Given the description of an element on the screen output the (x, y) to click on. 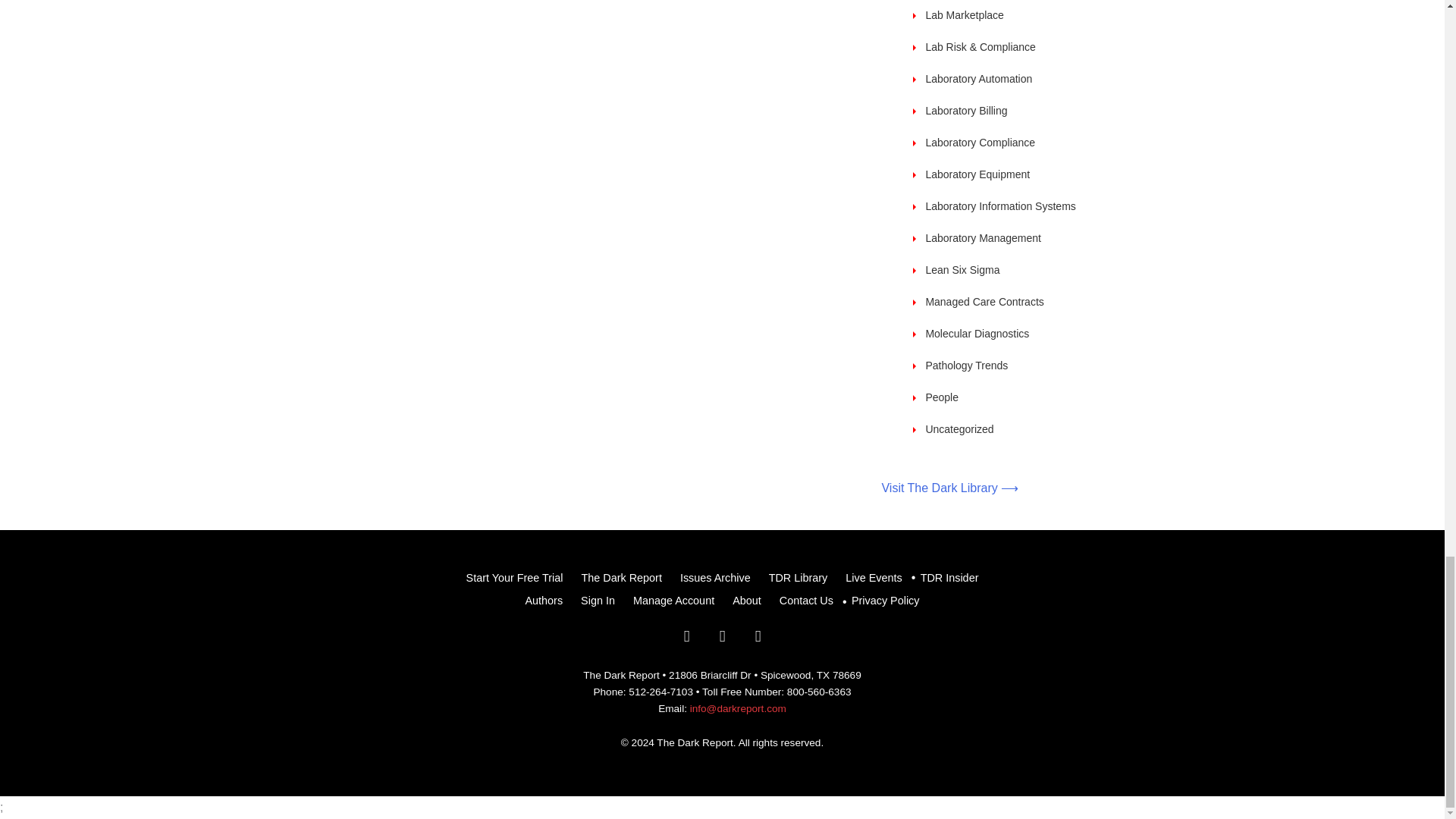
View Commentary Briefing (979, 46)
View Commentary Briefing (964, 15)
